Given the description of an element on the screen output the (x, y) to click on. 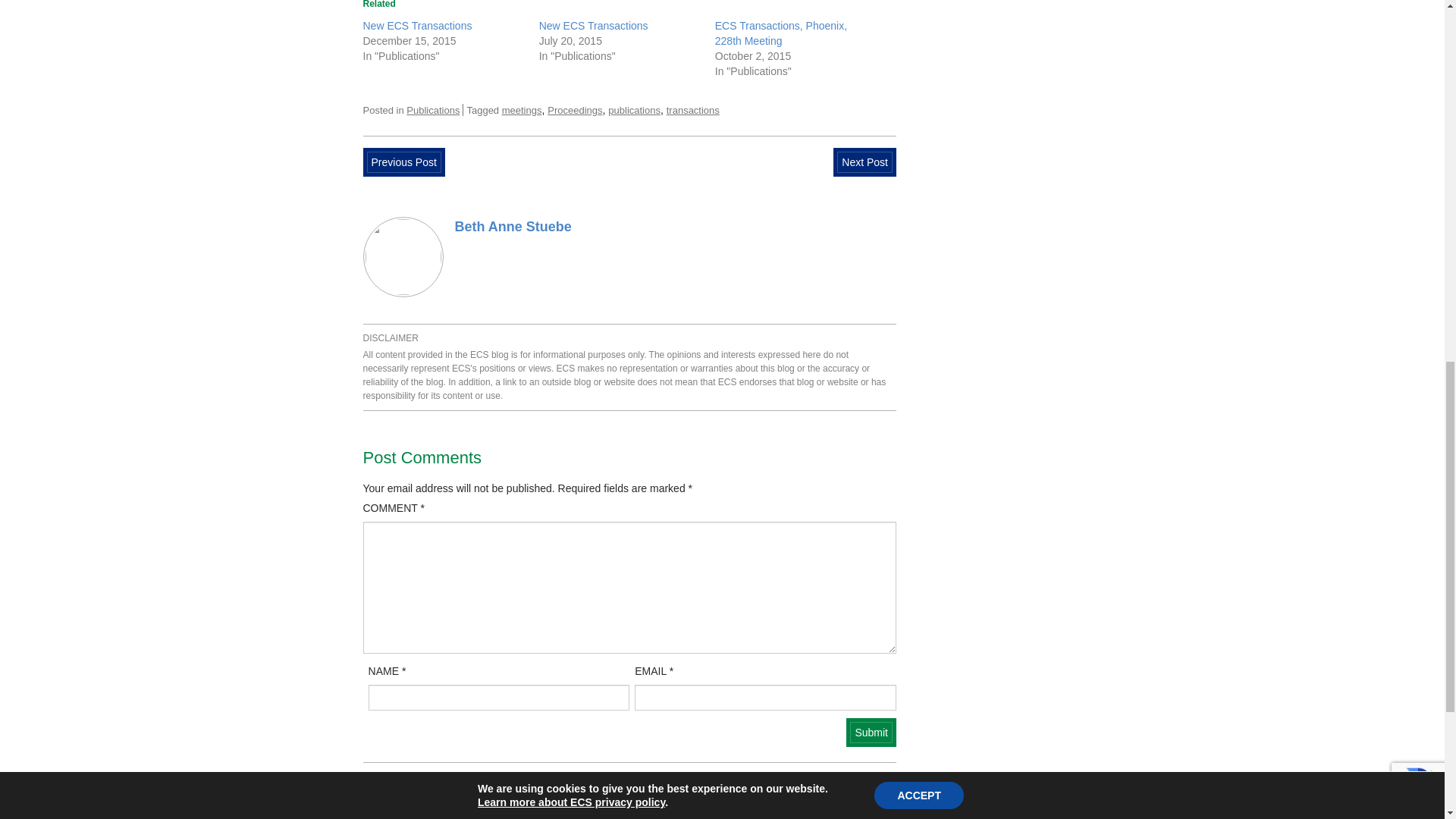
Posts by Beth Anne Stuebe (513, 226)
New ECS Transactions (416, 25)
Submit (871, 731)
ECS Transactions, Phoenix, 228th Meeting (780, 32)
New ECS Transactions (592, 25)
